Given the description of an element on the screen output the (x, y) to click on. 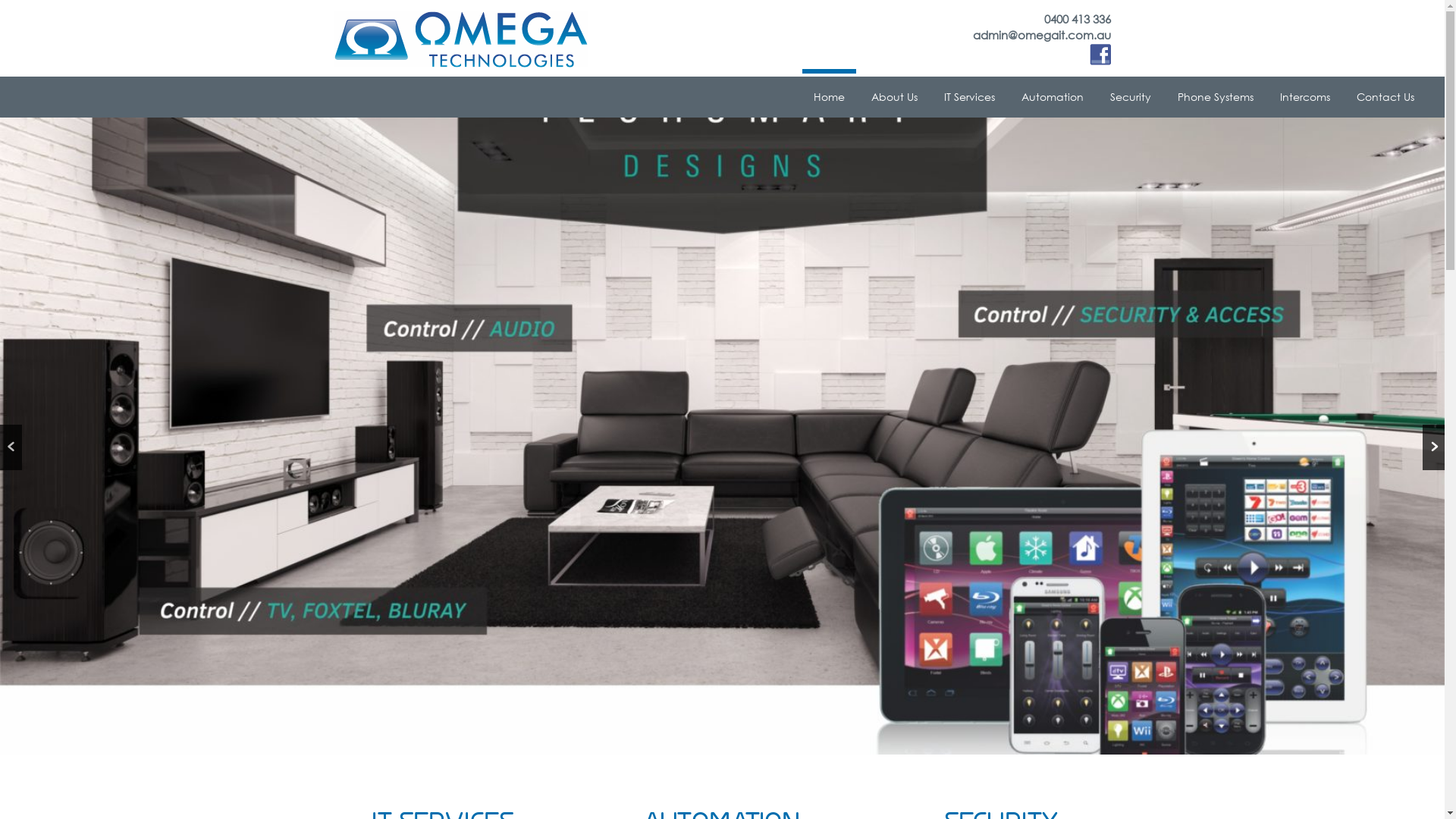
Intercoms Element type: text (1304, 96)
Phone Systems Element type: text (1215, 96)
Contact Us Element type: text (1385, 96)
Automation Element type: text (1052, 96)
< Element type: text (10, 447)
> Element type: text (1433, 447)
Cairns Cameras Element type: hover (722, 435)
About Us Element type: text (893, 96)
Security Element type: text (1130, 96)
IT Services Element type: text (969, 96)
Home Element type: text (829, 96)
Cairns Home Automation Element type: hover (722, 435)
